Given the description of an element on the screen output the (x, y) to click on. 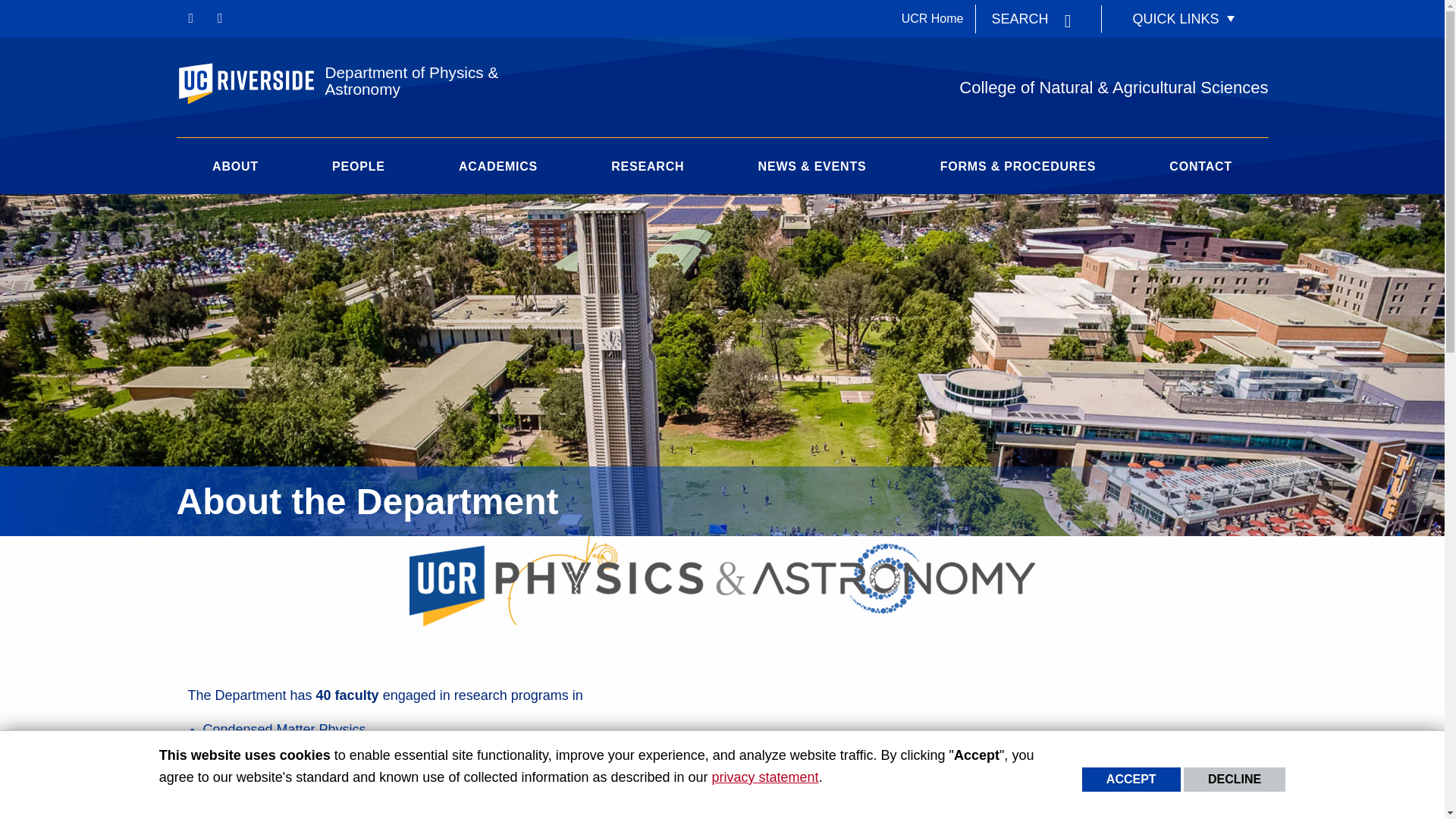
PEOPLE (359, 174)
SEARCH (1030, 18)
UC Riverside (253, 84)
UCR Home (932, 18)
ABOUT (235, 174)
QUICK LINKS (1184, 18)
ACADEMICS (497, 174)
UCR Privacy statement (764, 776)
